Given the description of an element on the screen output the (x, y) to click on. 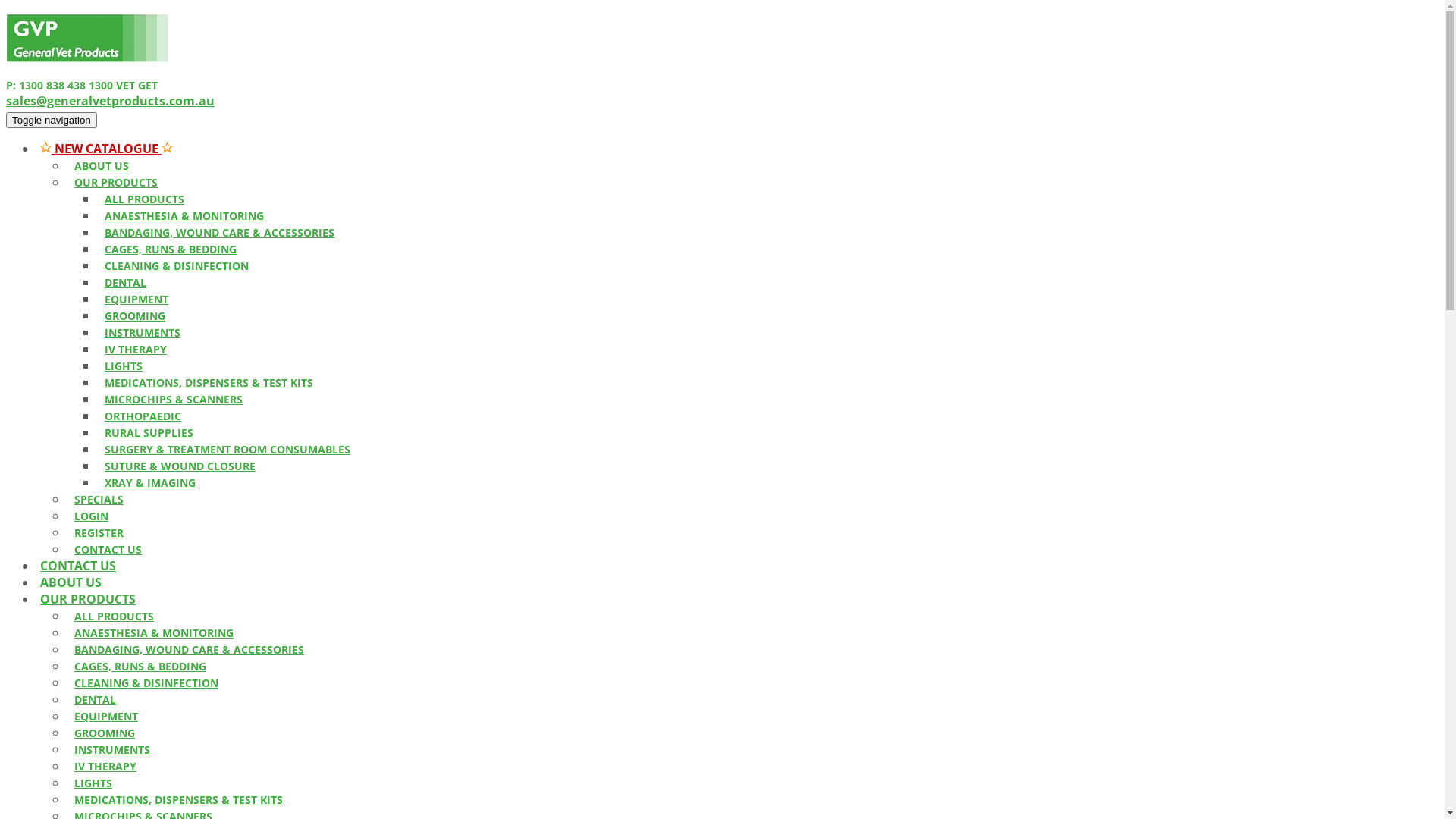
EQUIPMENT Element type: text (136, 298)
BANDAGING, WOUND CARE & ACCESSORIES Element type: text (188, 649)
CONTACT US Element type: text (107, 549)
GROOMING Element type: text (104, 732)
SPECIALS Element type: text (98, 499)
MEDICATIONS, DISPENSERS & TEST KITS Element type: text (208, 382)
OUR PRODUCTS Element type: text (87, 598)
SURGERY & TREATMENT ROOM CONSUMABLES Element type: text (227, 449)
ORTHOPAEDIC Element type: text (142, 415)
INSTRUMENTS Element type: text (142, 332)
ANAESTHESIA & MONITORING Element type: text (153, 632)
ABOUT US Element type: text (101, 165)
ANAESTHESIA & MONITORING Element type: text (184, 215)
CLEANING & DISINFECTION Element type: text (145, 682)
BANDAGING, WOUND CARE & ACCESSORIES Element type: text (219, 232)
EQUIPMENT Element type: text (105, 716)
CLEANING & DISINFECTION Element type: text (176, 265)
IV THERAPY Element type: text (105, 766)
XRAY & IMAGING Element type: text (150, 482)
ALL PRODUCTS Element type: text (113, 615)
CAGES, RUNS & BEDDING Element type: text (139, 665)
MICROCHIPS & SCANNERS Element type: text (173, 399)
sales@generalvetproducts.com.au Element type: text (110, 100)
DENTAL Element type: text (94, 699)
OUR PRODUCTS Element type: text (115, 182)
REGISTER Element type: text (98, 532)
LIGHTS Element type: text (123, 365)
ABOUT US Element type: text (70, 581)
CONTACT US Element type: text (77, 565)
NEW CATALOGUE Element type: text (106, 148)
CAGES, RUNS & BEDDING Element type: text (170, 248)
GROOMING Element type: text (134, 315)
INSTRUMENTS Element type: text (111, 749)
LIGHTS Element type: text (92, 782)
LOGIN Element type: text (91, 515)
Toggle navigation Element type: text (51, 120)
SUTURE & WOUND CLOSURE Element type: text (180, 465)
MEDICATIONS, DISPENSERS & TEST KITS Element type: text (178, 799)
RURAL SUPPLIES Element type: text (148, 432)
DENTAL Element type: text (125, 282)
IV THERAPY Element type: text (135, 349)
ALL PRODUCTS Element type: text (144, 198)
